Given the description of an element on the screen output the (x, y) to click on. 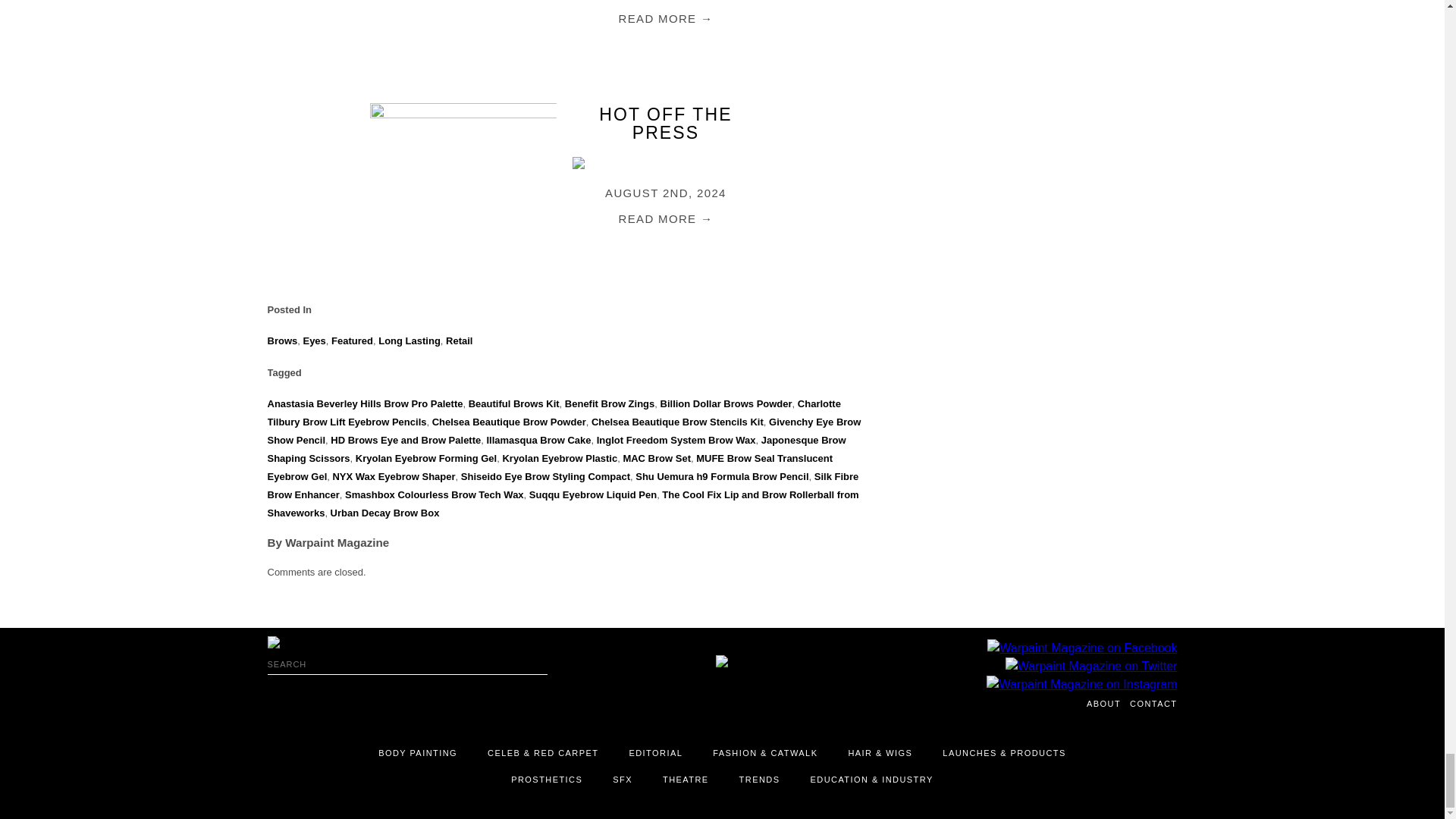
Hot Off The Press (665, 123)
Hot Off The Press (665, 18)
Hot Off The Press (665, 218)
